Given the description of an element on the screen output the (x, y) to click on. 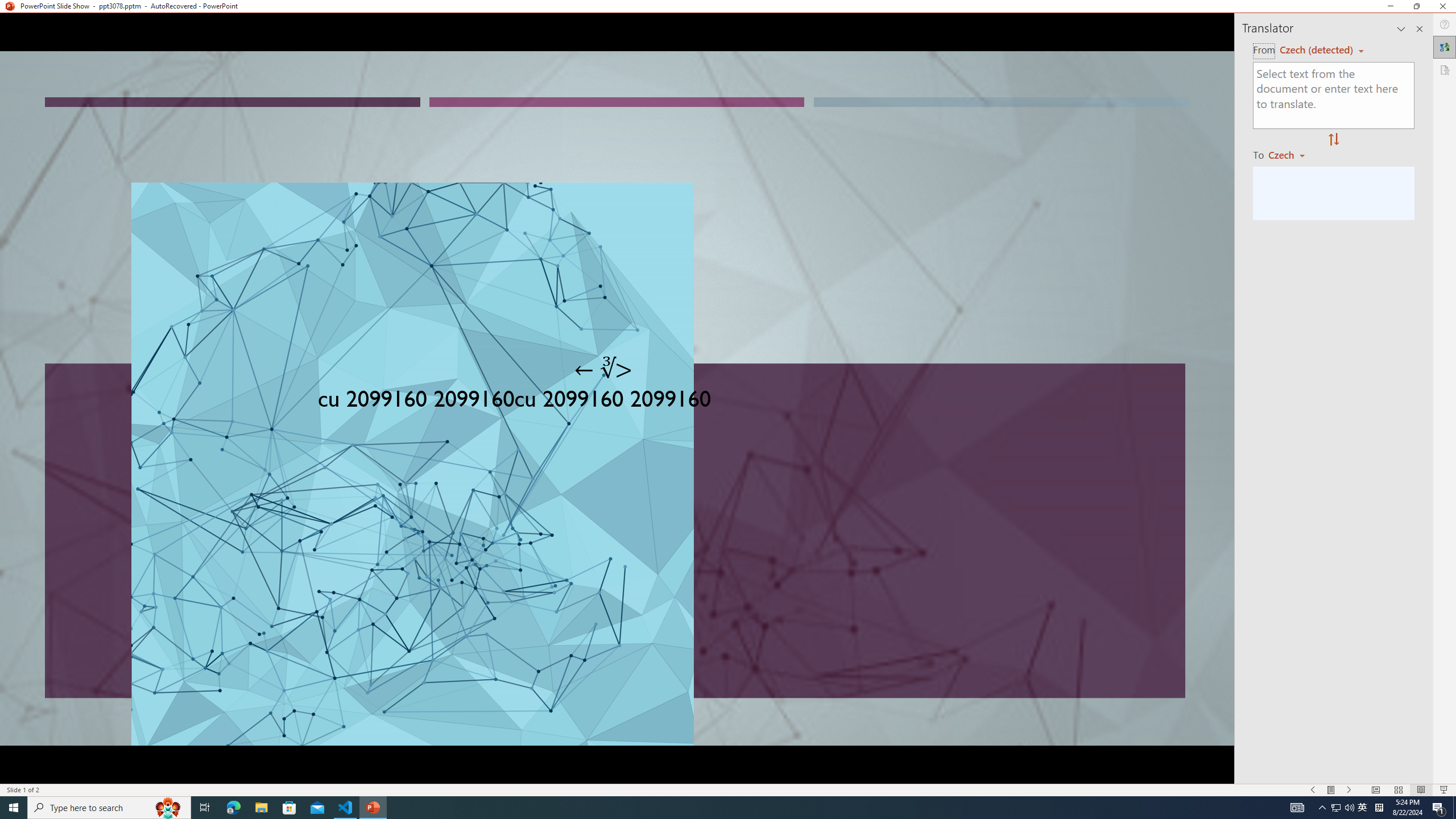
Menu On (1331, 790)
Czech (1291, 154)
Slide Show Next On (1349, 790)
Czech (detected) (1317, 50)
